Given the description of an element on the screen output the (x, y) to click on. 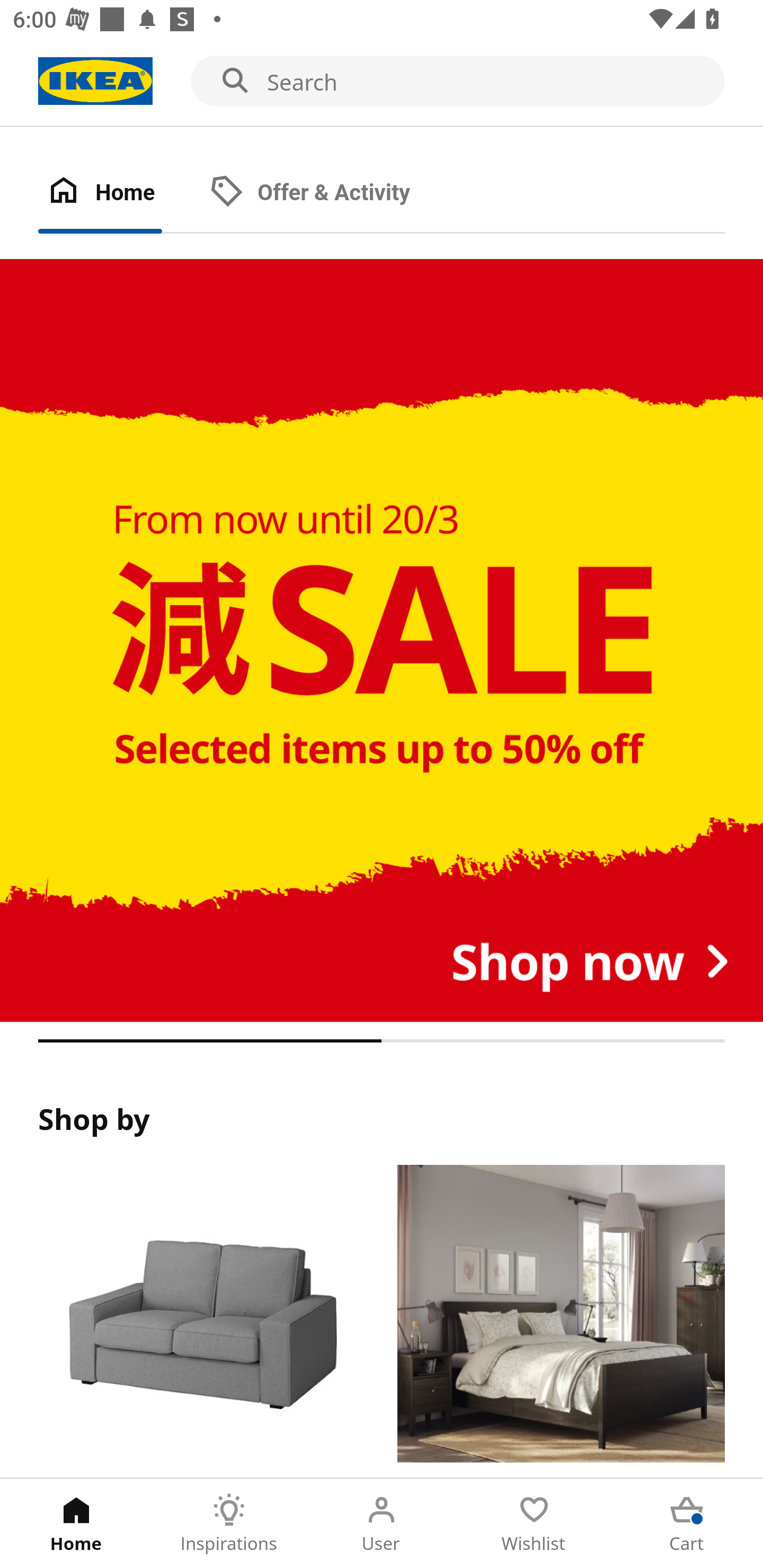
Search (381, 81)
Home
Tab 1 of 2 (118, 192)
Offer & Activity
Tab 2 of 2 (327, 192)
Products (201, 1321)
Rooms (560, 1321)
Home
Tab 1 of 5 (76, 1522)
Inspirations
Tab 2 of 5 (228, 1522)
User
Tab 3 of 5 (381, 1522)
Wishlist
Tab 4 of 5 (533, 1522)
Cart
Tab 5 of 5 (686, 1522)
